Given the description of an element on the screen output the (x, y) to click on. 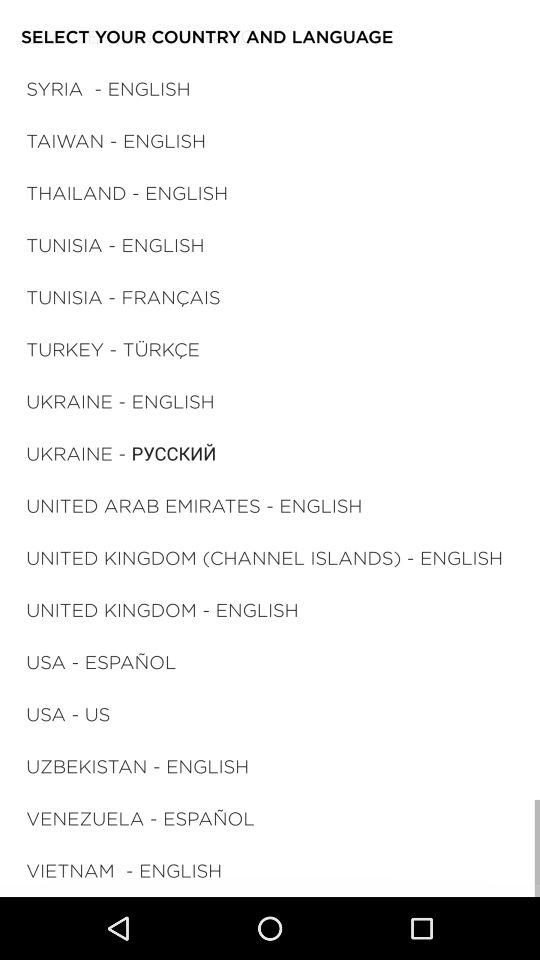
swipe until the thailand - english item (127, 192)
